Given the description of an element on the screen output the (x, y) to click on. 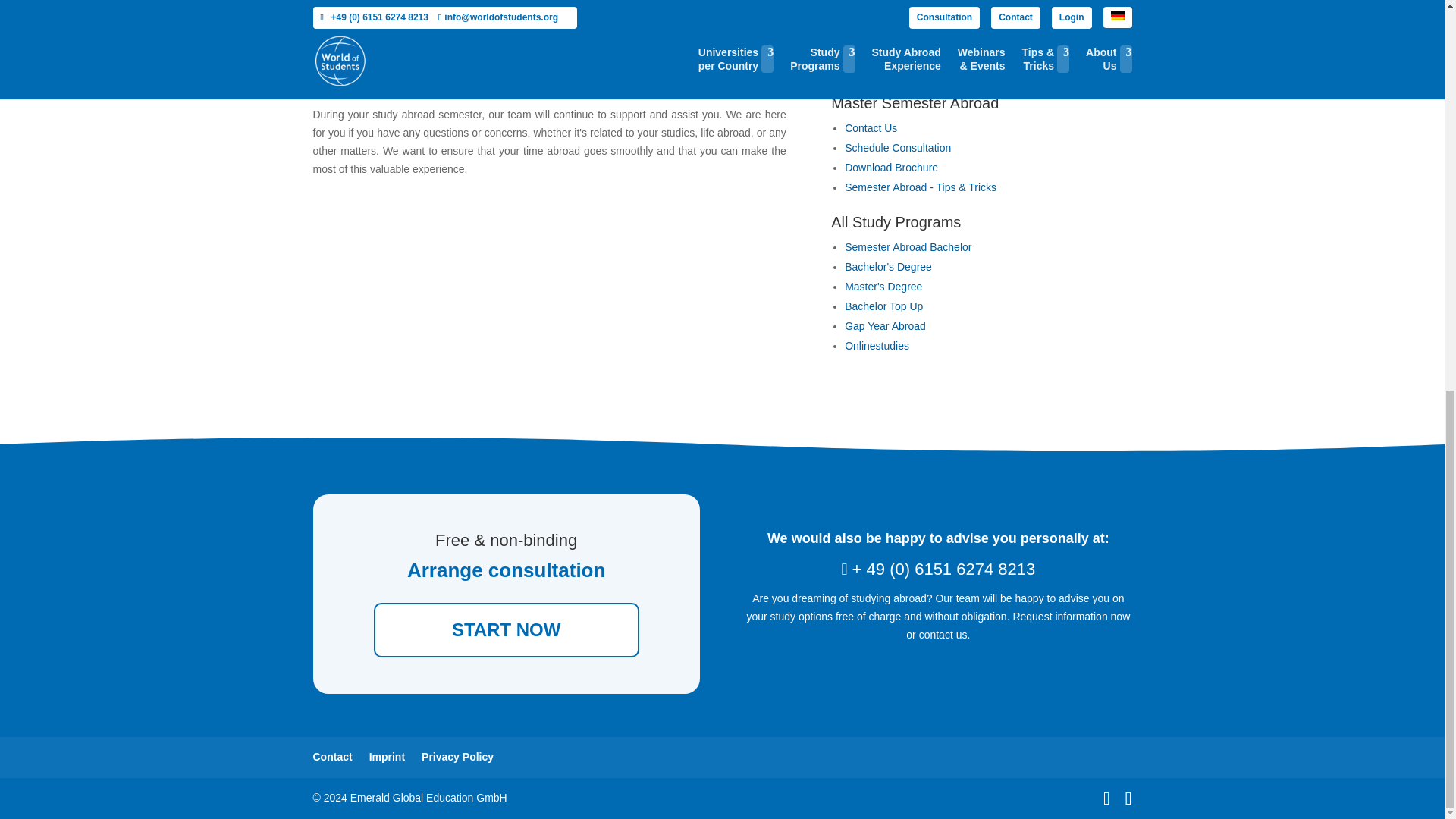
Gap Year Abroad (885, 326)
Study Abroad Semester in Bachelor (907, 246)
Bachelor Top Up (883, 306)
Download the Study Guide (890, 167)
Master's Degree Program (882, 286)
Study Online (876, 345)
Have more questions? Contact us now! (870, 128)
Bachelor's Degree Program (887, 266)
Schedule a free consultation appointment with us now! (897, 147)
